Given the description of an element on the screen output the (x, y) to click on. 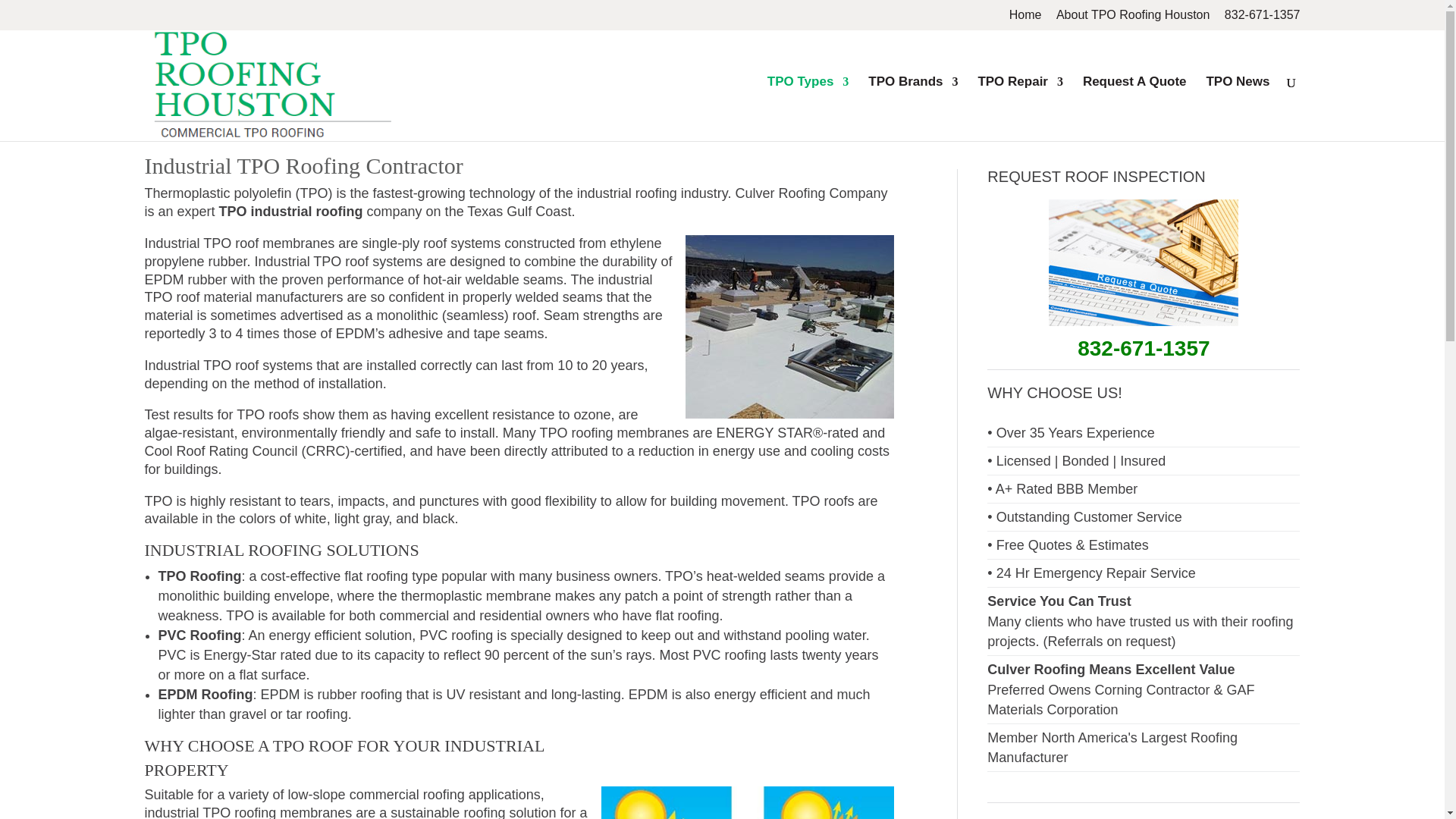
TPO Types (807, 108)
Request A Quote (1134, 108)
Home (1025, 19)
832-671-1357 (1262, 19)
TPO Repair (1019, 108)
TPO Brands (912, 108)
TPO News (1237, 108)
About TPO Roofing Houston (1133, 19)
